Given the description of an element on the screen output the (x, y) to click on. 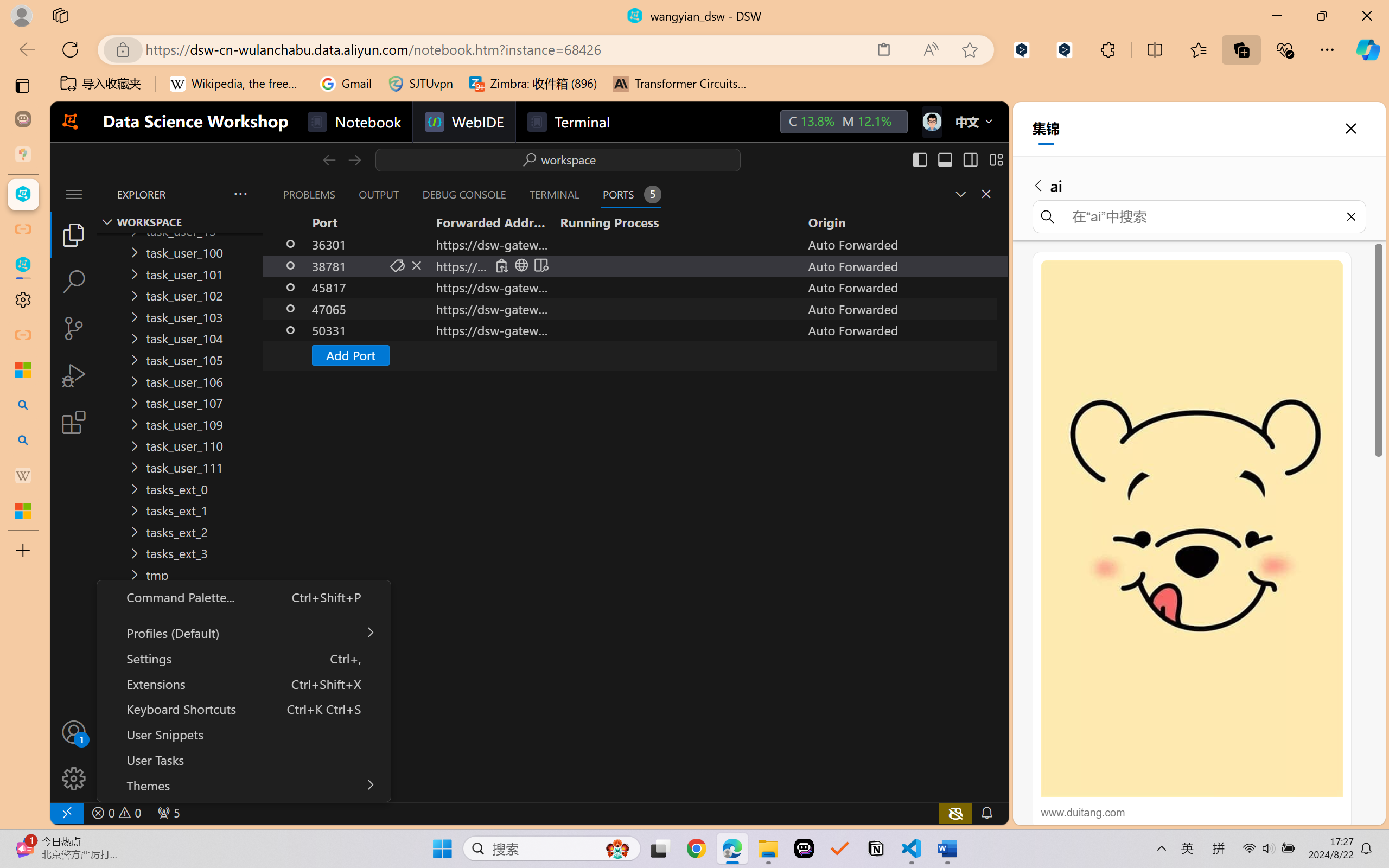
Notifications (986, 812)
Forwarded Ports: 36301, 47065, 38781, 45817, 50331 (167, 812)
Customize Layout... (995, 159)
